Given the description of an element on the screen output the (x, y) to click on. 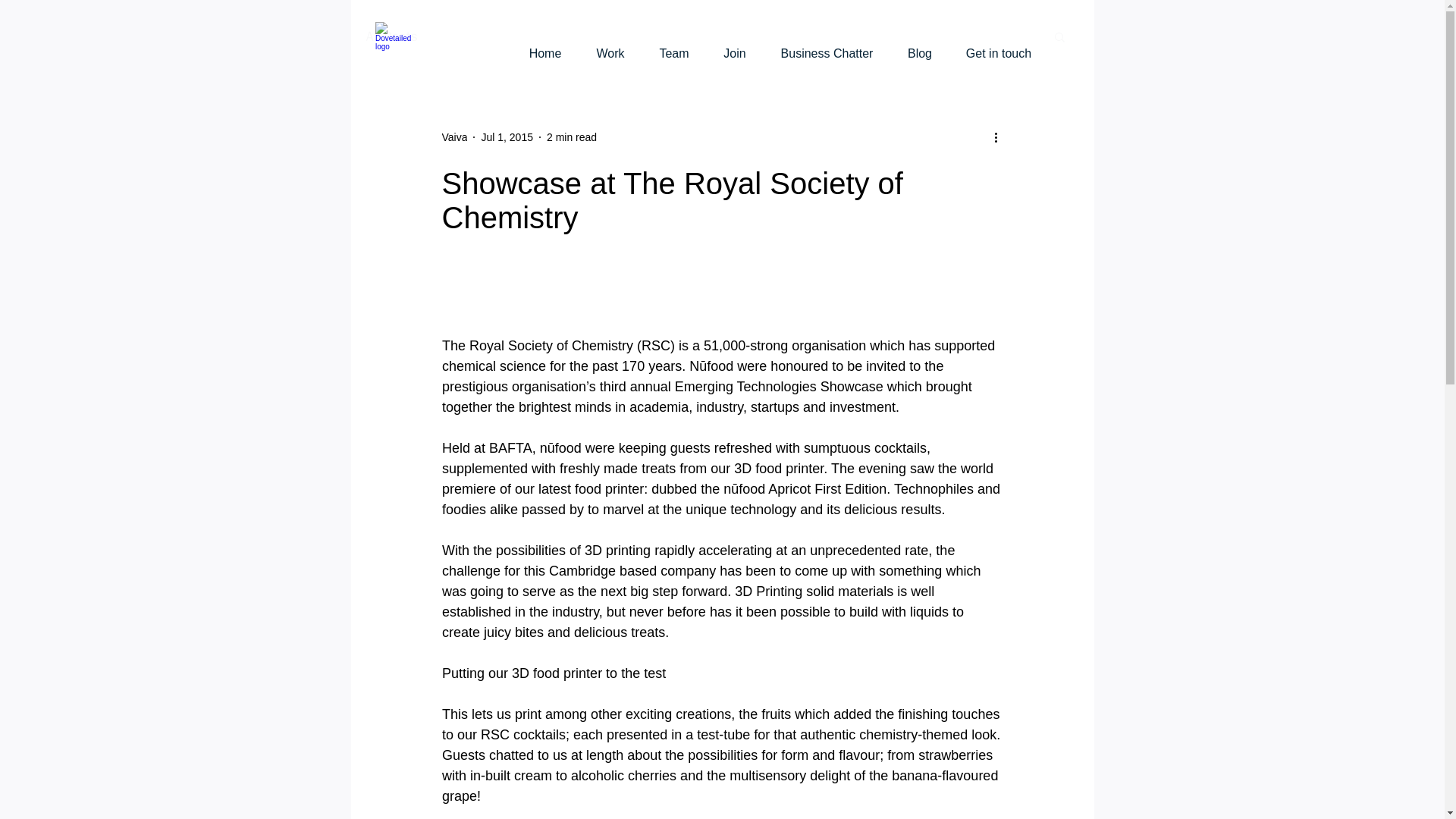
Vaiva (454, 136)
Jul 1, 2015 (506, 136)
All Posts (390, 36)
2 min read (571, 136)
Business Chatter (825, 46)
To the Dovetailed homepage (398, 44)
Home (544, 46)
Team (674, 46)
Get in touch (998, 46)
